Given the description of an element on the screen output the (x, y) to click on. 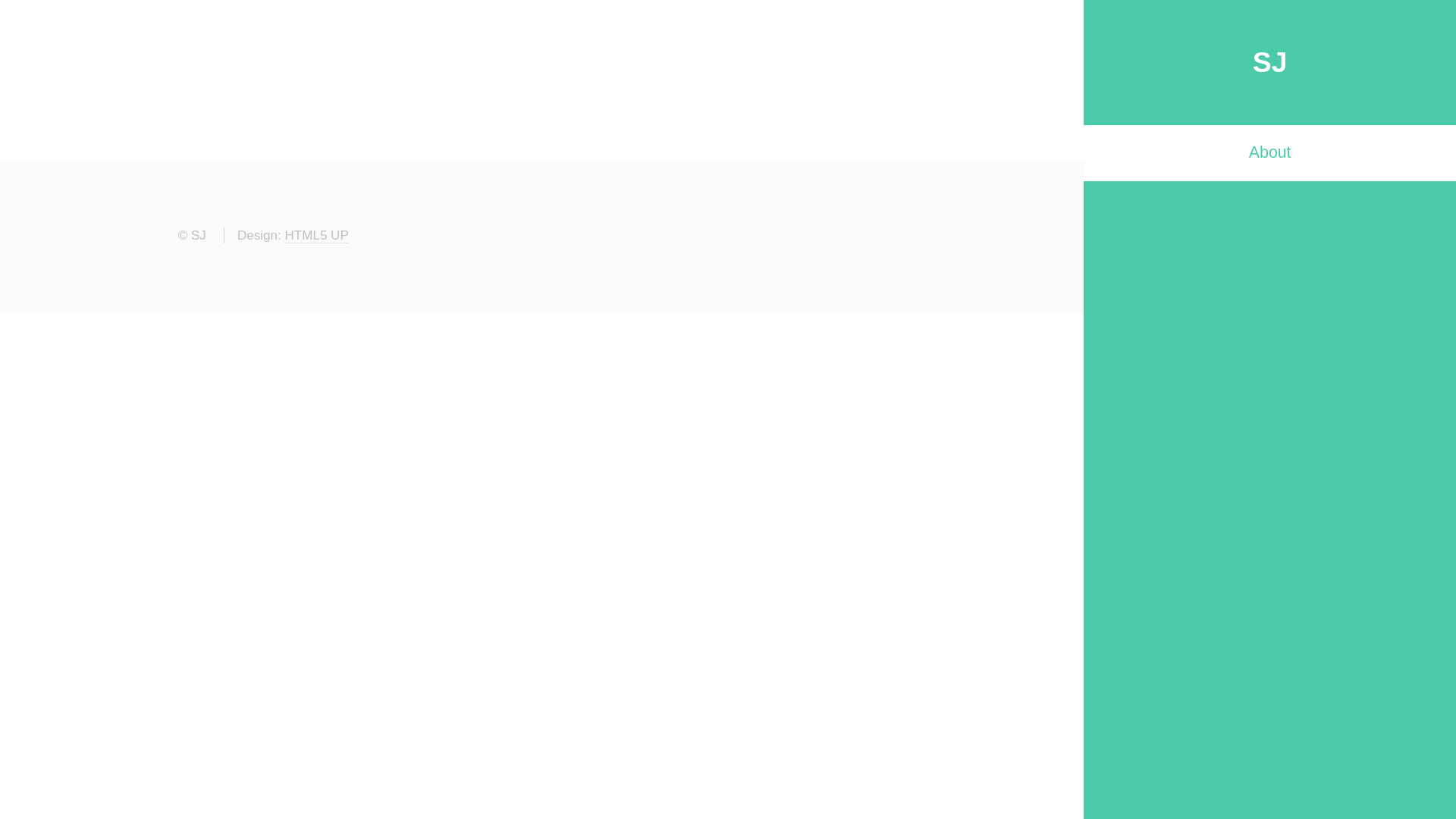
HTML5 UP Element type: text (316, 235)
SJ Element type: text (1269, 62)
